Given the description of an element on the screen output the (x, y) to click on. 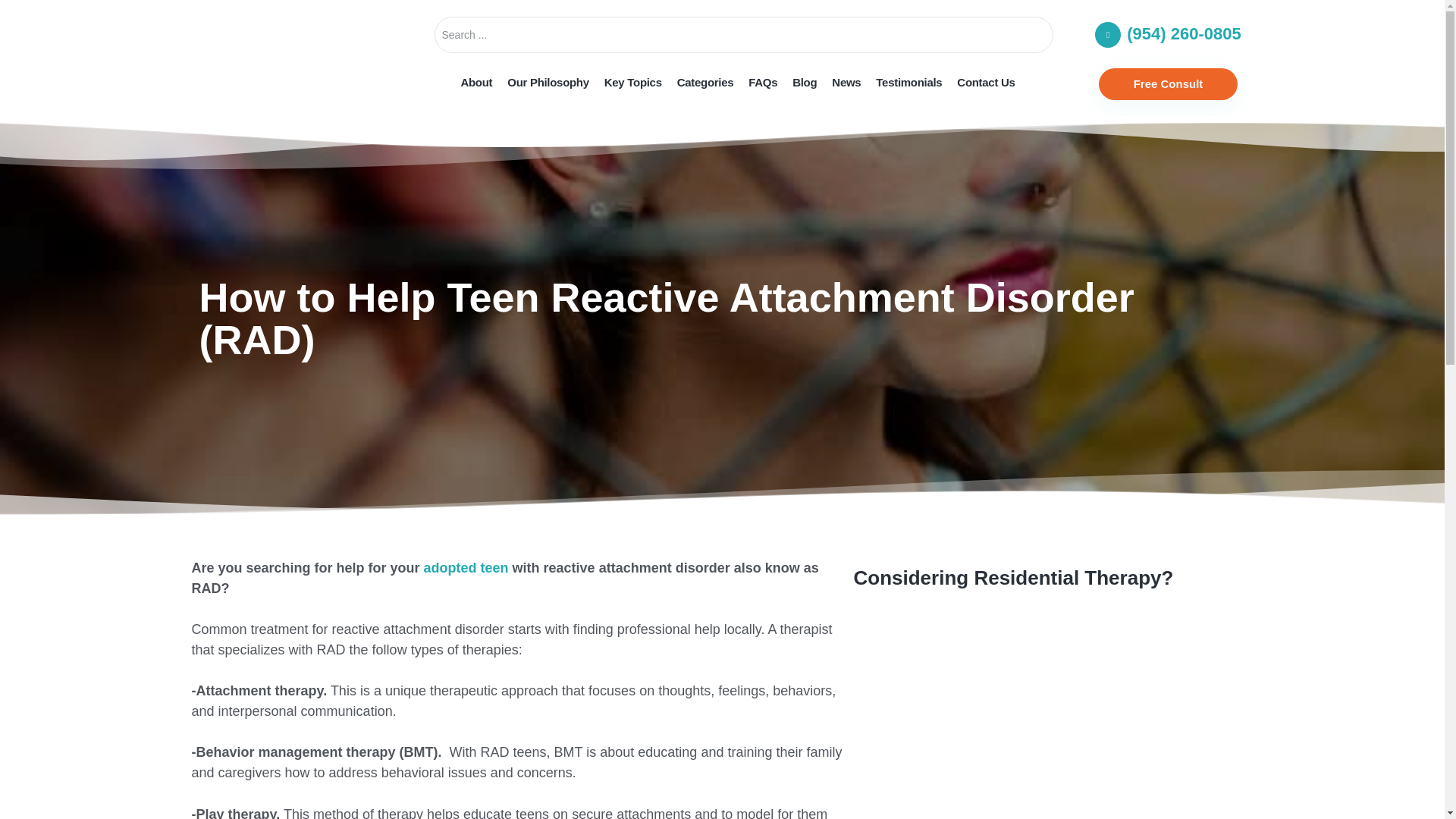
FAQs (762, 81)
Categories (705, 81)
Blog (804, 81)
Testimonials (908, 81)
About (475, 81)
Our Philosophy (547, 81)
Contact Us (985, 81)
Key Topics (632, 81)
News (845, 81)
